Given the description of an element on the screen output the (x, y) to click on. 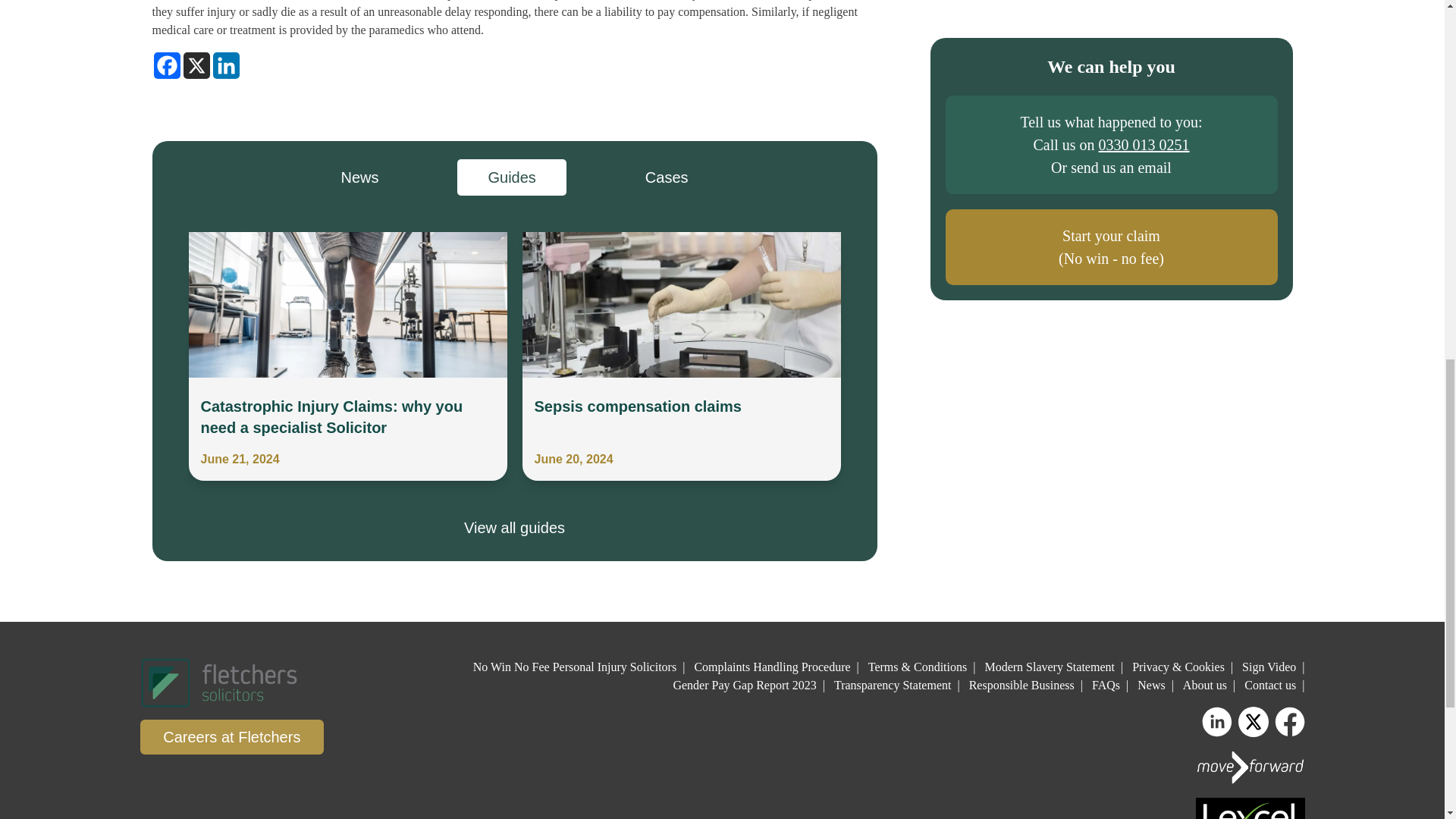
X (196, 65)
Linkedin (225, 65)
Facebook (165, 65)
